Given the description of an element on the screen output the (x, y) to click on. 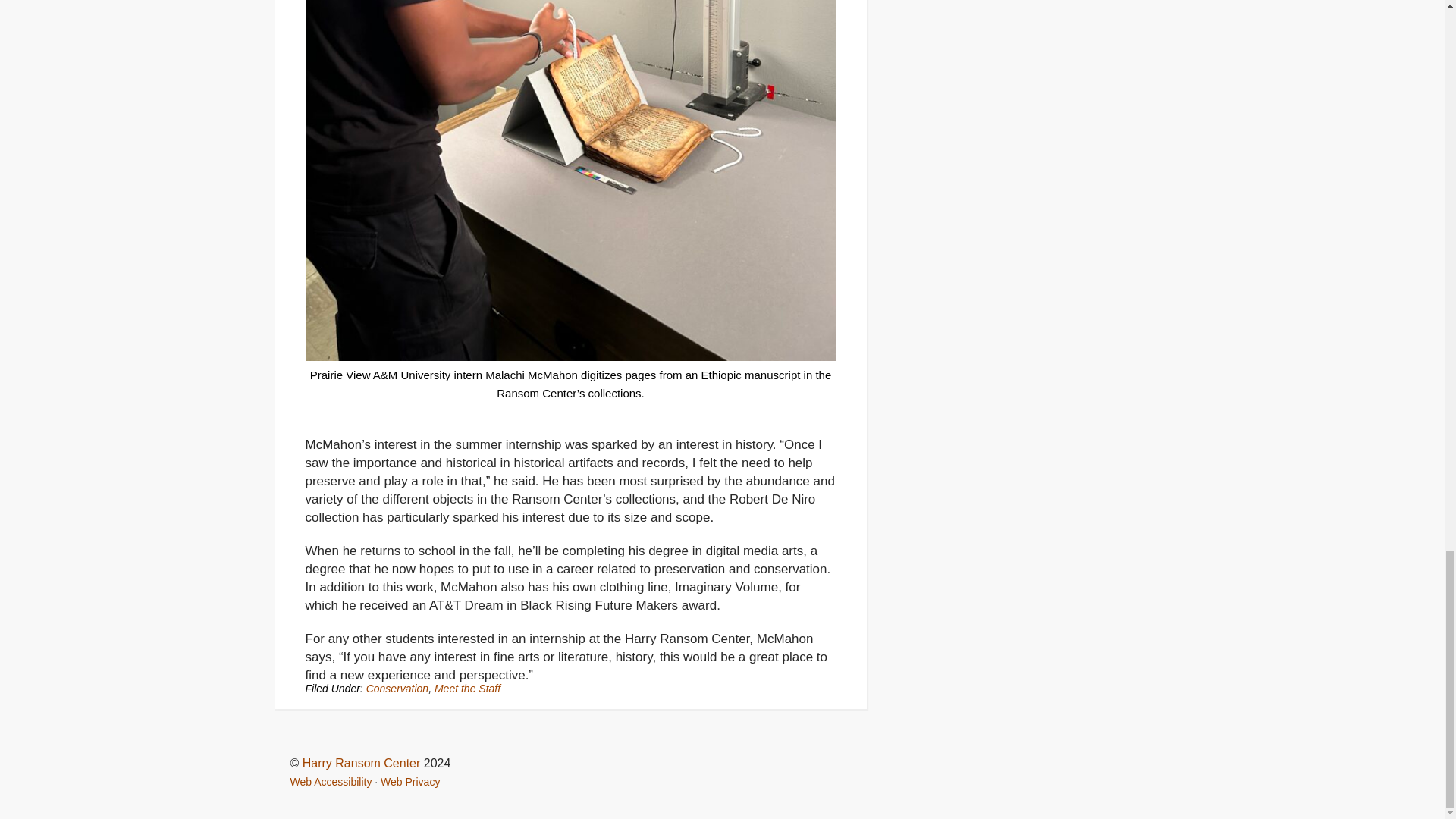
Conservation (397, 688)
Meet the Staff (466, 688)
